Given the description of an element on the screen output the (x, y) to click on. 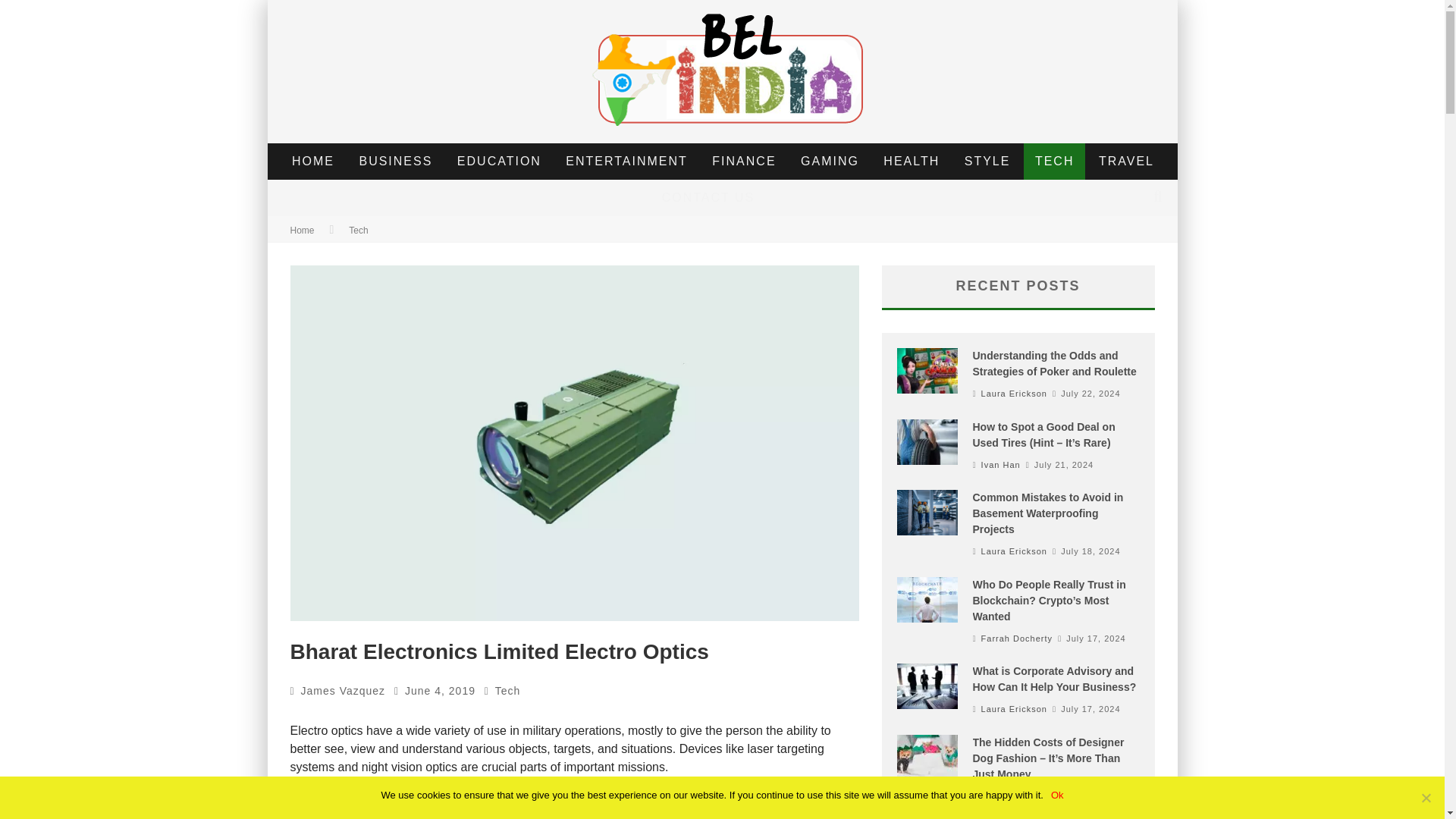
Tech (358, 230)
Home (301, 230)
STYLE (987, 161)
CONTACT US (708, 197)
TECH (1054, 161)
James Vazquez (343, 690)
Tech (508, 690)
BEL India (315, 797)
GAMING (829, 161)
HOME (313, 161)
ENTERTAINMENT (626, 161)
HEALTH (911, 161)
TRAVEL (1126, 161)
View all posts in Tech (508, 690)
BUSINESS (395, 161)
